Given the description of an element on the screen output the (x, y) to click on. 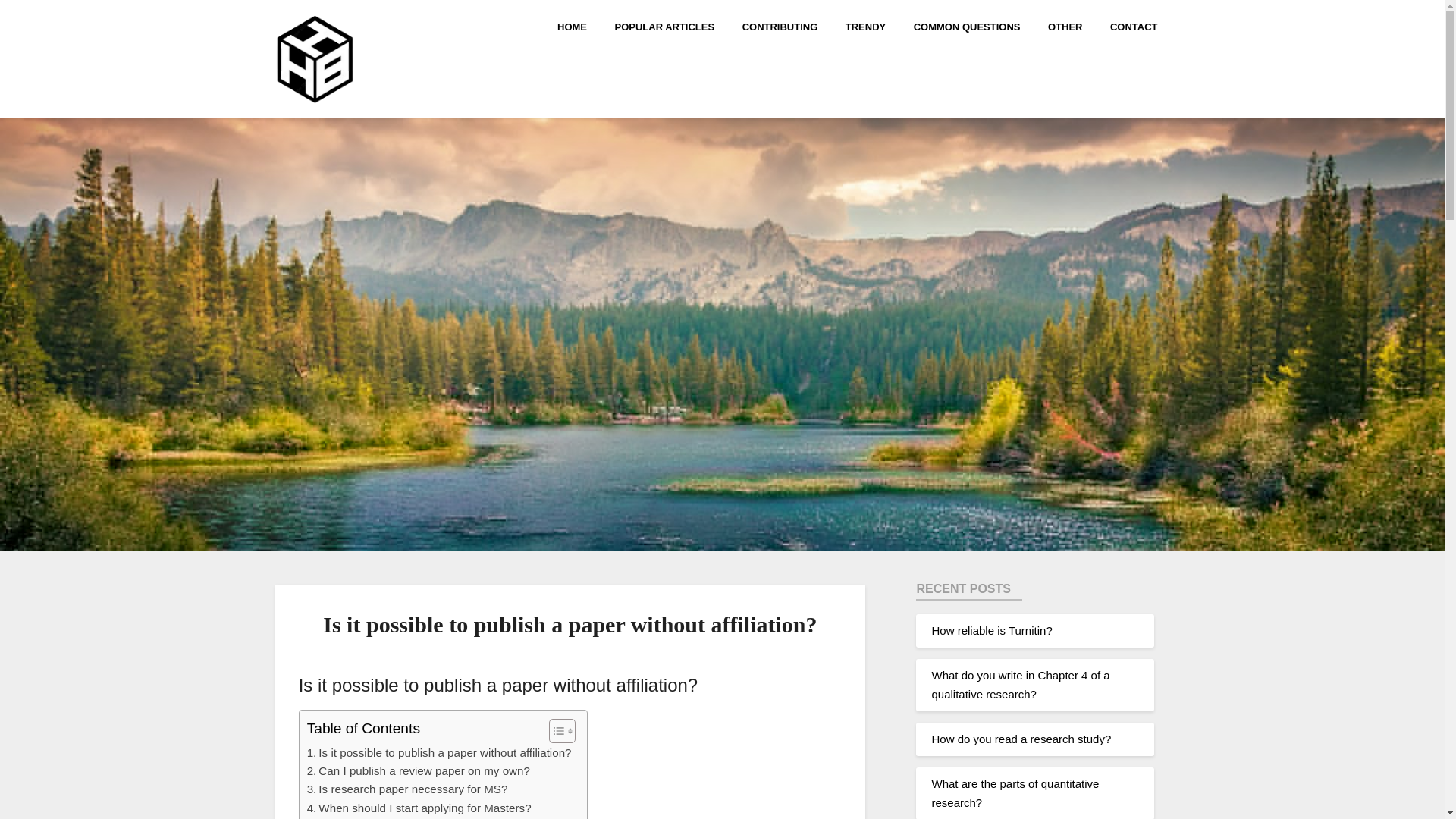
Is it possible to publish a paper without affiliation? (439, 752)
Can I publish a review paper on my own? (418, 771)
Is research paper necessary for MS? (407, 789)
When should I start applying for Masters? (419, 808)
CONTRIBUTING (779, 26)
Can I publish a review paper on my own? (418, 771)
HOME (577, 26)
How reliable is Turnitin? (991, 630)
TRENDY (865, 26)
Is research paper necessary for MS? (407, 789)
